Given the description of an element on the screen output the (x, y) to click on. 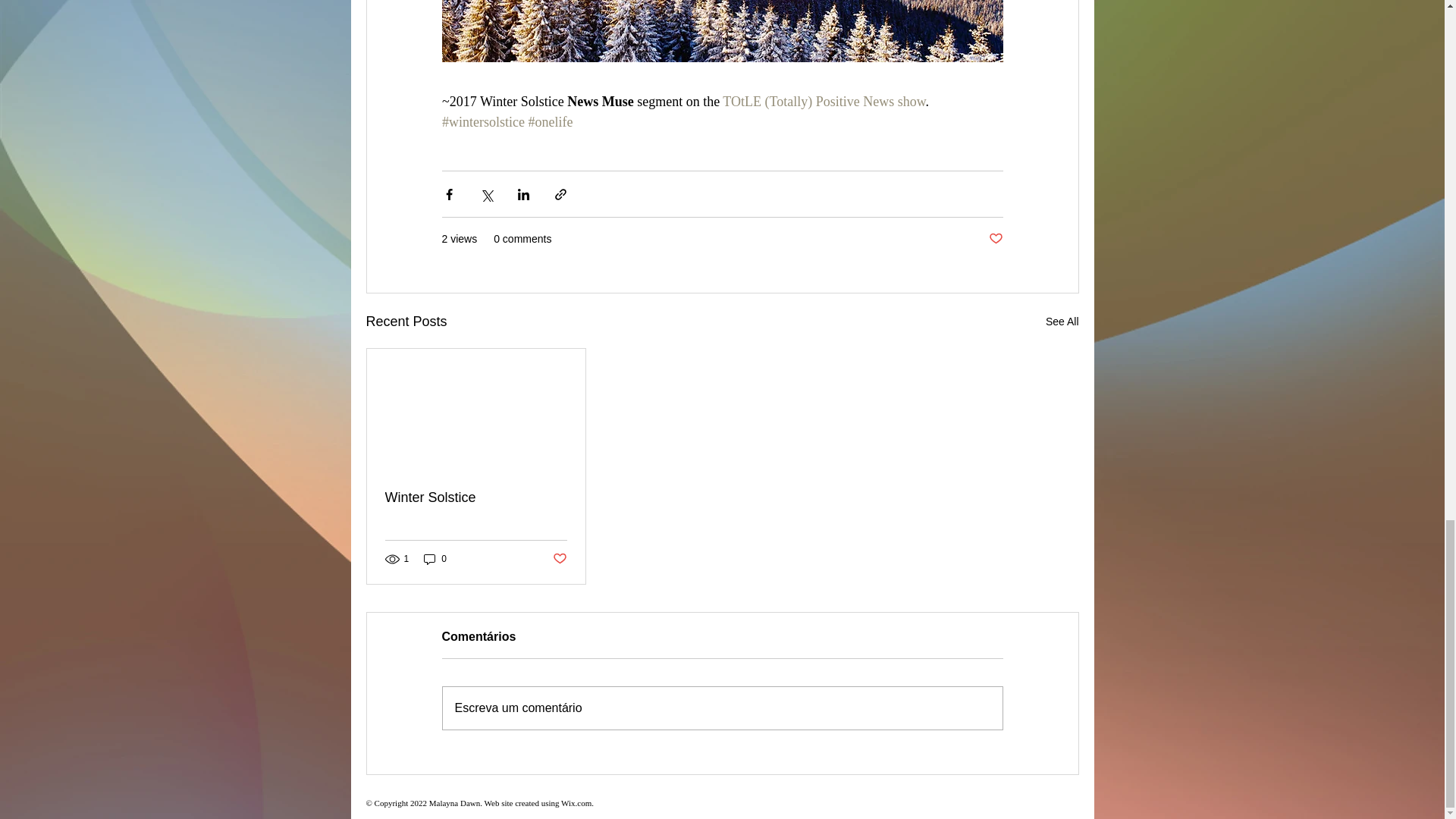
Post not marked as liked (995, 238)
0 (435, 558)
Winter Solstice (476, 497)
Post not marked as liked (558, 559)
See All (1061, 321)
